Given the description of an element on the screen output the (x, y) to click on. 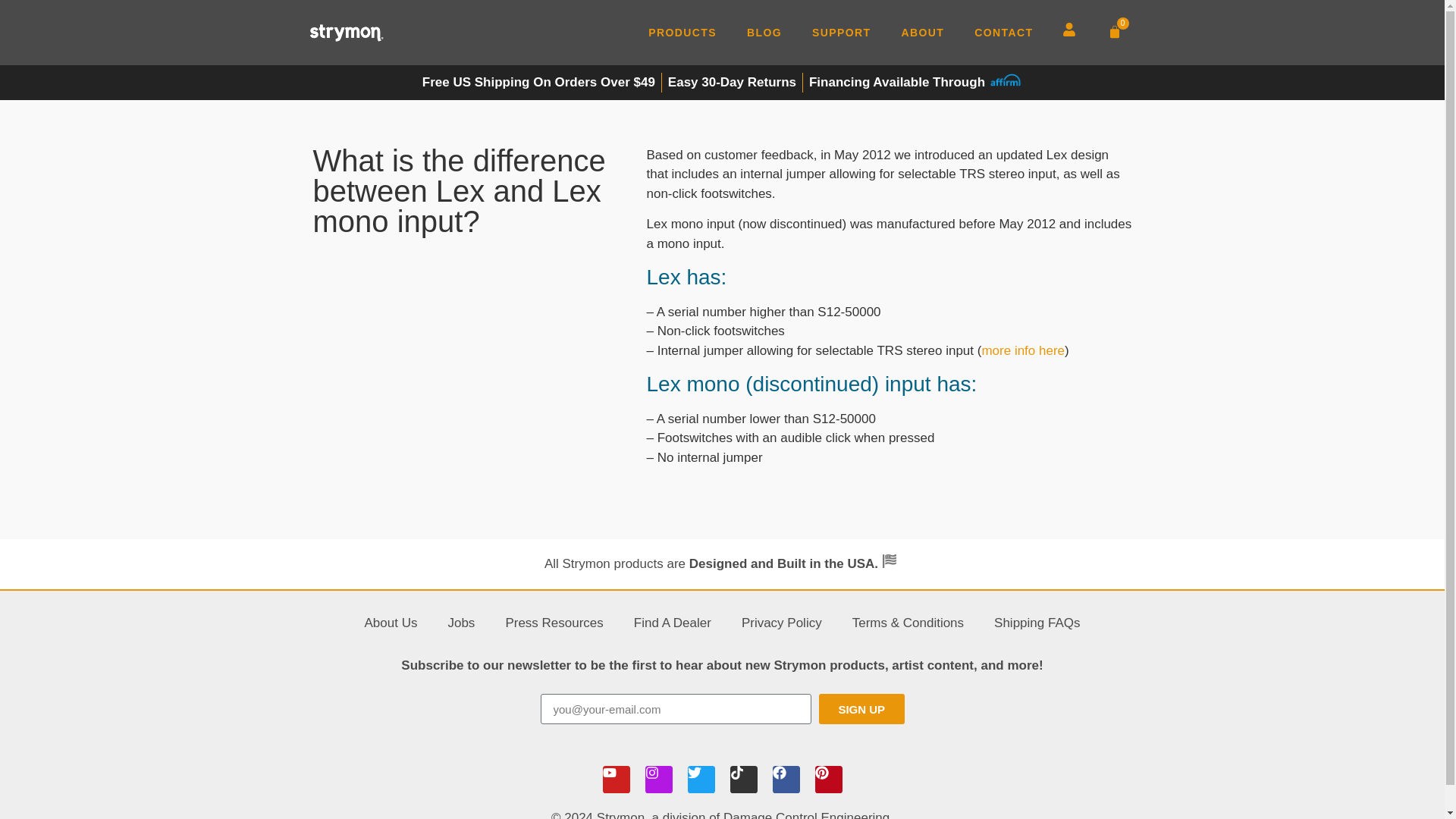
Shipping FAQs (1036, 623)
SUPPORT (840, 32)
About Us (390, 623)
0 (1113, 32)
more info here (1022, 350)
Easy 30-Day Returns (732, 82)
BLOG (764, 32)
Jobs (460, 623)
Press Resources (553, 623)
Financing Available Through (915, 82)
